Given the description of an element on the screen output the (x, y) to click on. 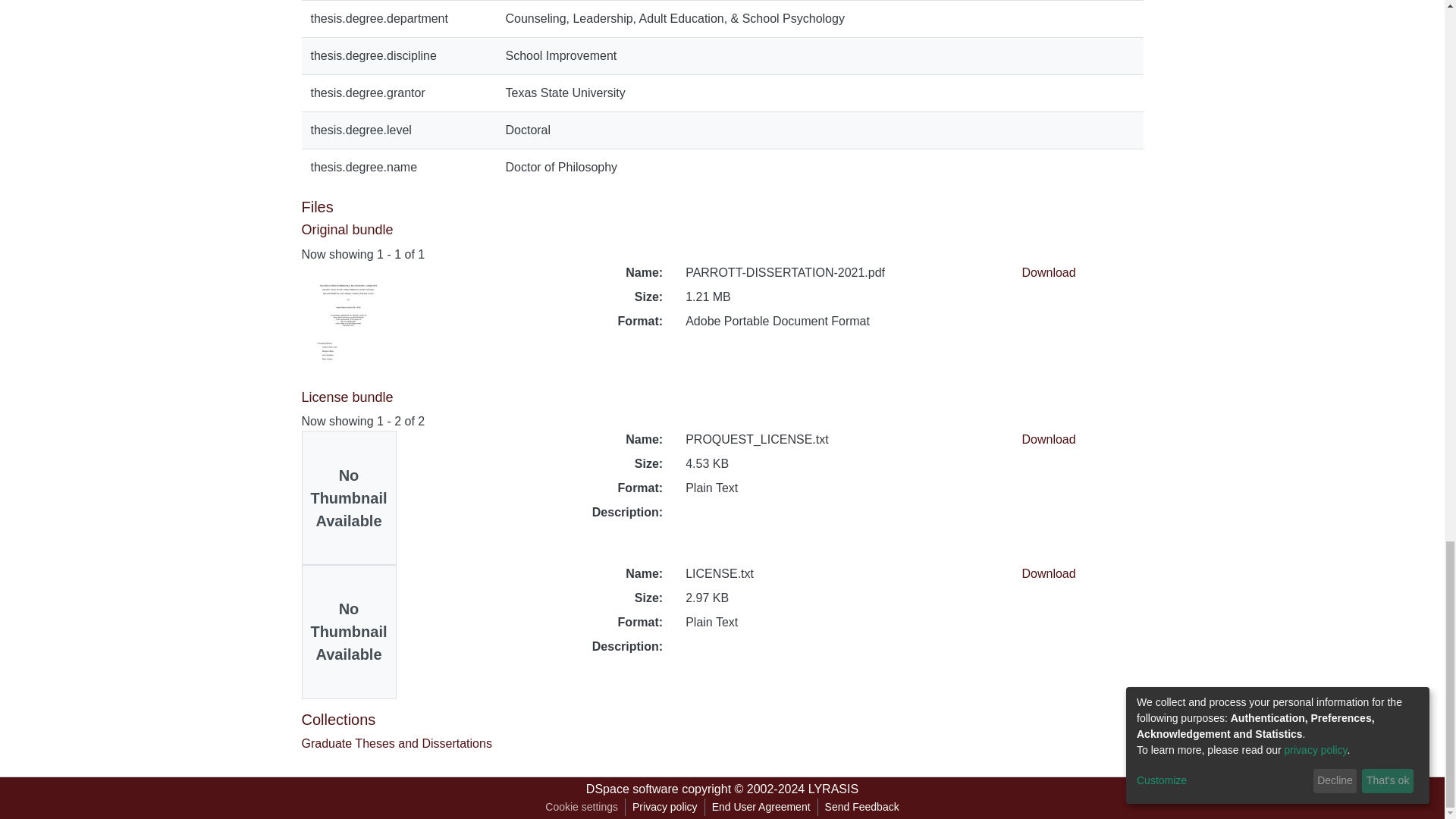
DSpace software (632, 788)
Download (1048, 573)
Graduate Theses and Dissertations (396, 743)
Download (1048, 272)
Download (1048, 439)
Privacy policy (665, 806)
End User Agreement (760, 806)
Send Feedback (861, 806)
LYRASIS (833, 788)
Cookie settings (581, 806)
